Given the description of an element on the screen output the (x, y) to click on. 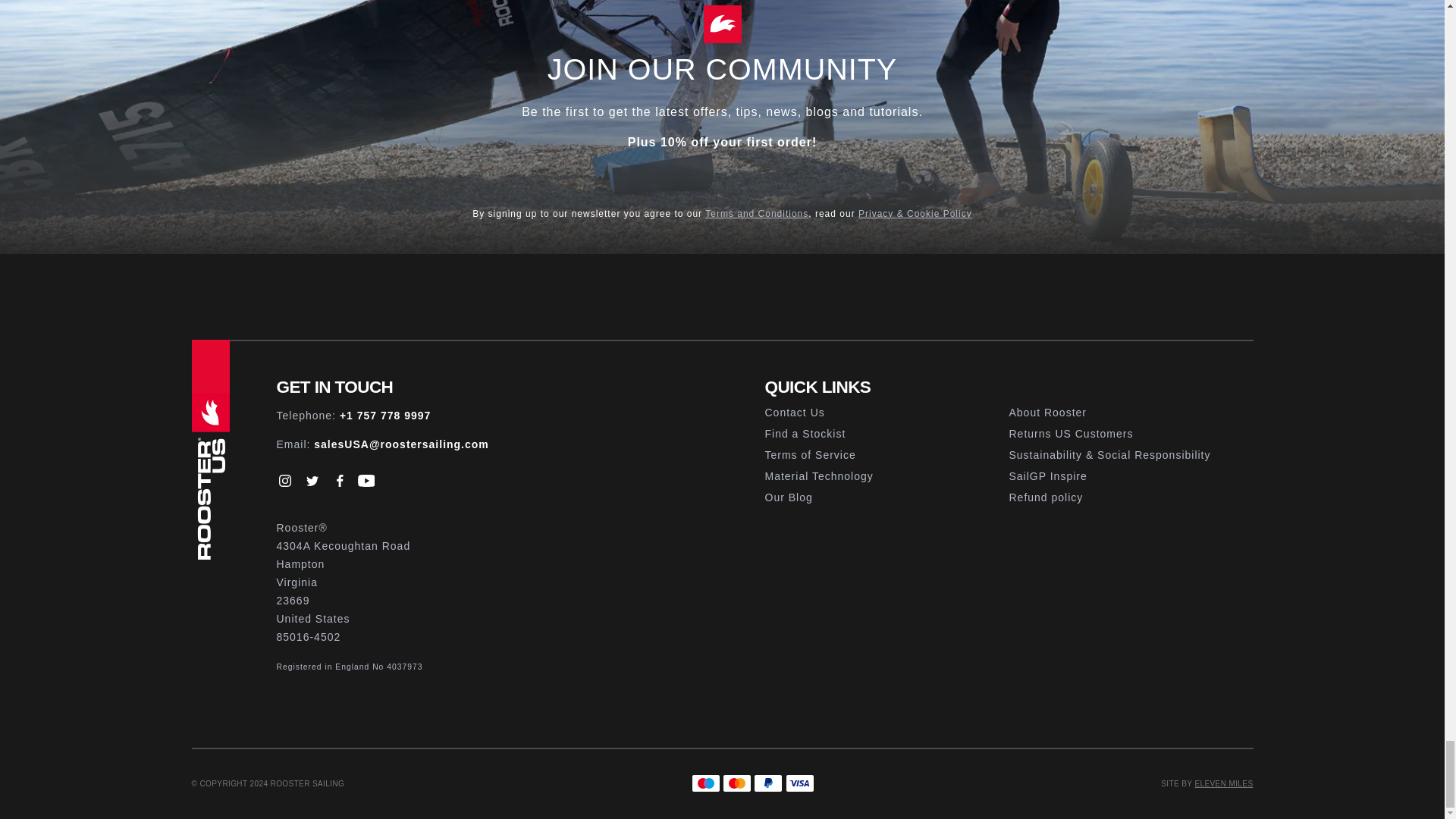
Contact Us (886, 412)
ROOSTER USA on Instagram (285, 480)
VISA (799, 782)
PAYPAL (768, 782)
ROOSTER USA on Facebook (338, 480)
About Rooster (1130, 412)
Find a Stockist (886, 433)
MAESTRO (705, 782)
Returns US Customers (1130, 433)
MASTERCARD (736, 782)
ROOSTER USA on Twitter (311, 480)
ROOSTER USA on YouTube (365, 480)
